Given the description of an element on the screen output the (x, y) to click on. 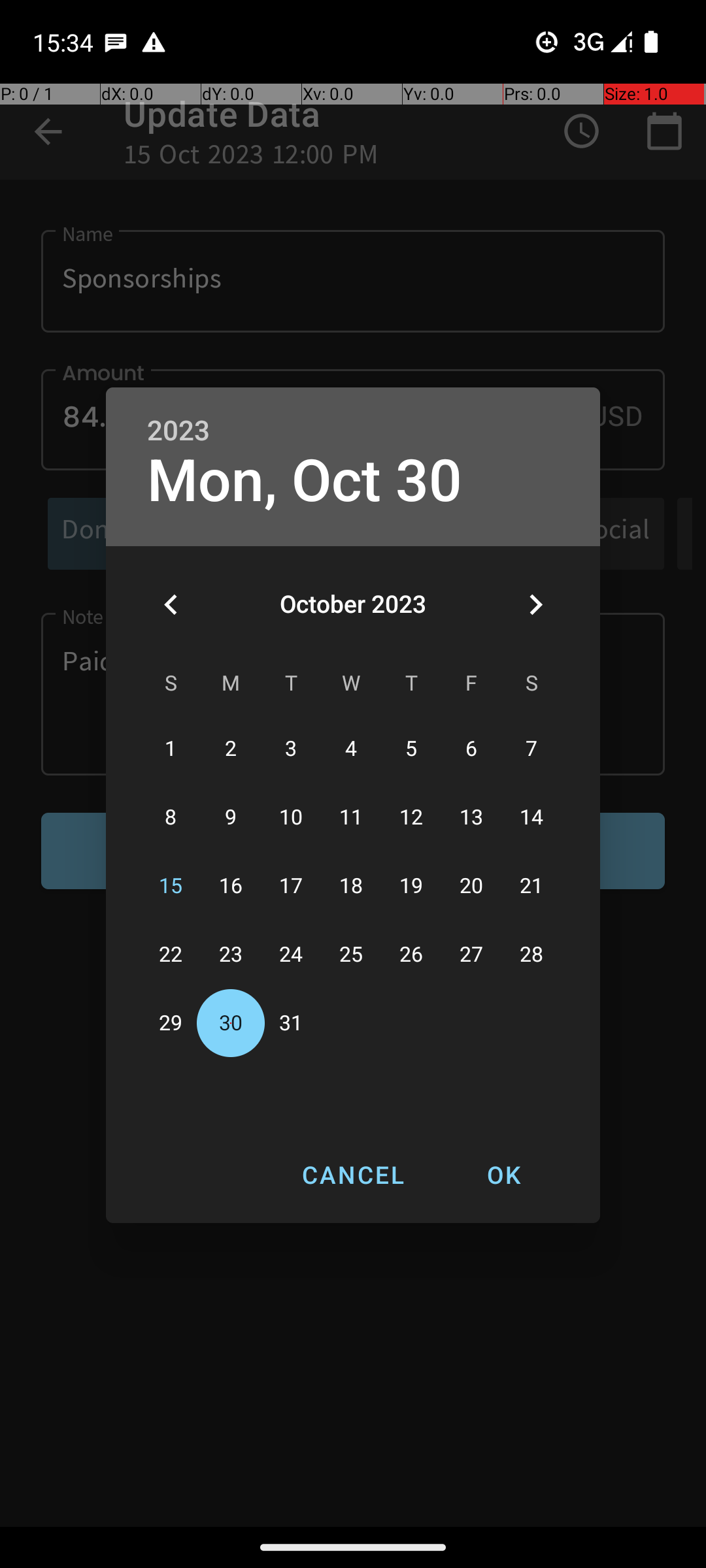
Mon, Oct 30 Element type: android.widget.TextView (304, 480)
